Given the description of an element on the screen output the (x, y) to click on. 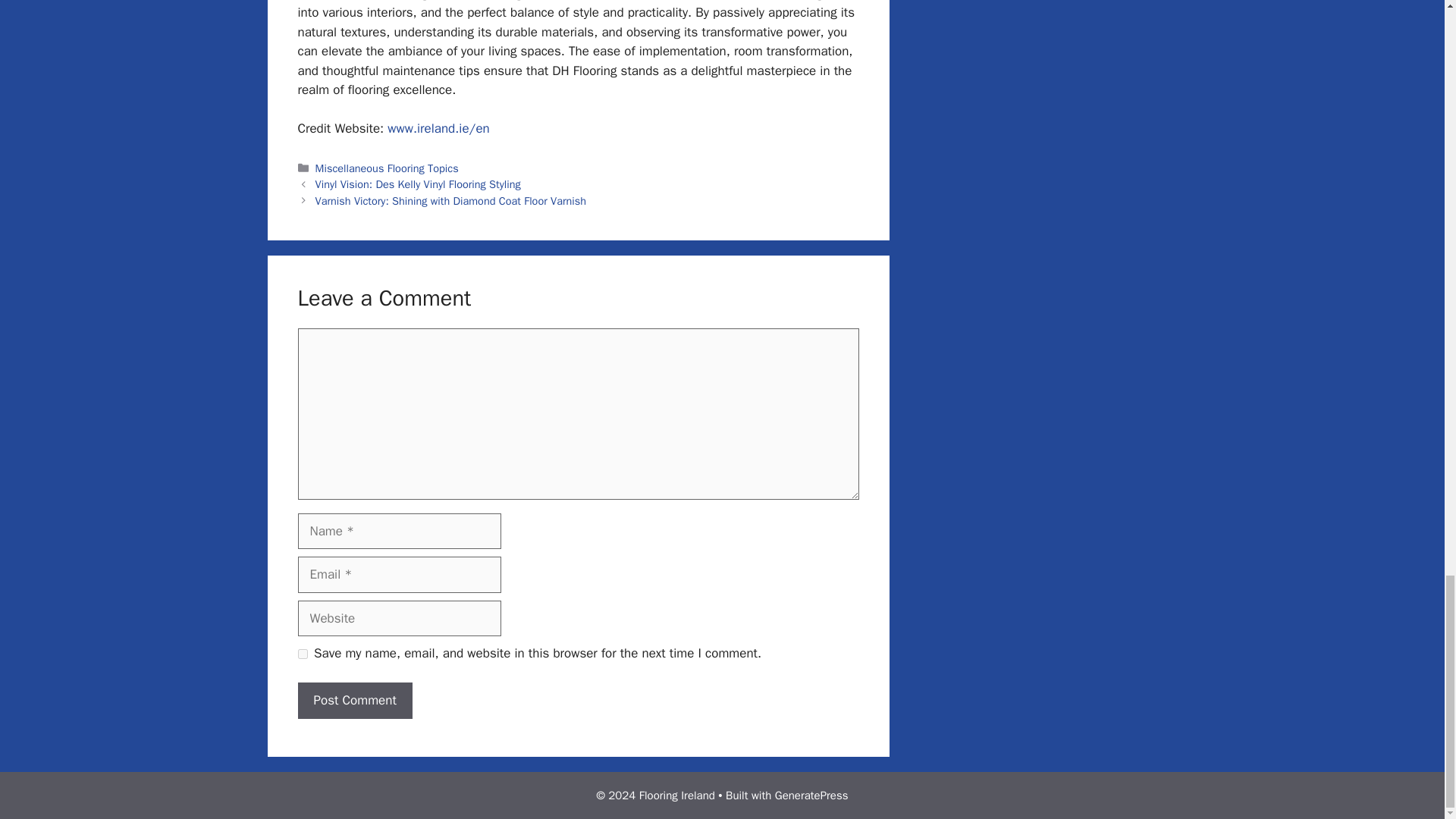
Vinyl Vision: Des Kelly Vinyl Flooring Styling (418, 183)
Varnish Victory: Shining with Diamond Coat Floor Varnish (450, 201)
Post Comment (354, 700)
yes (302, 654)
Miscellaneous Flooring Topics (386, 168)
Post Comment (354, 700)
